Given the description of an element on the screen output the (x, y) to click on. 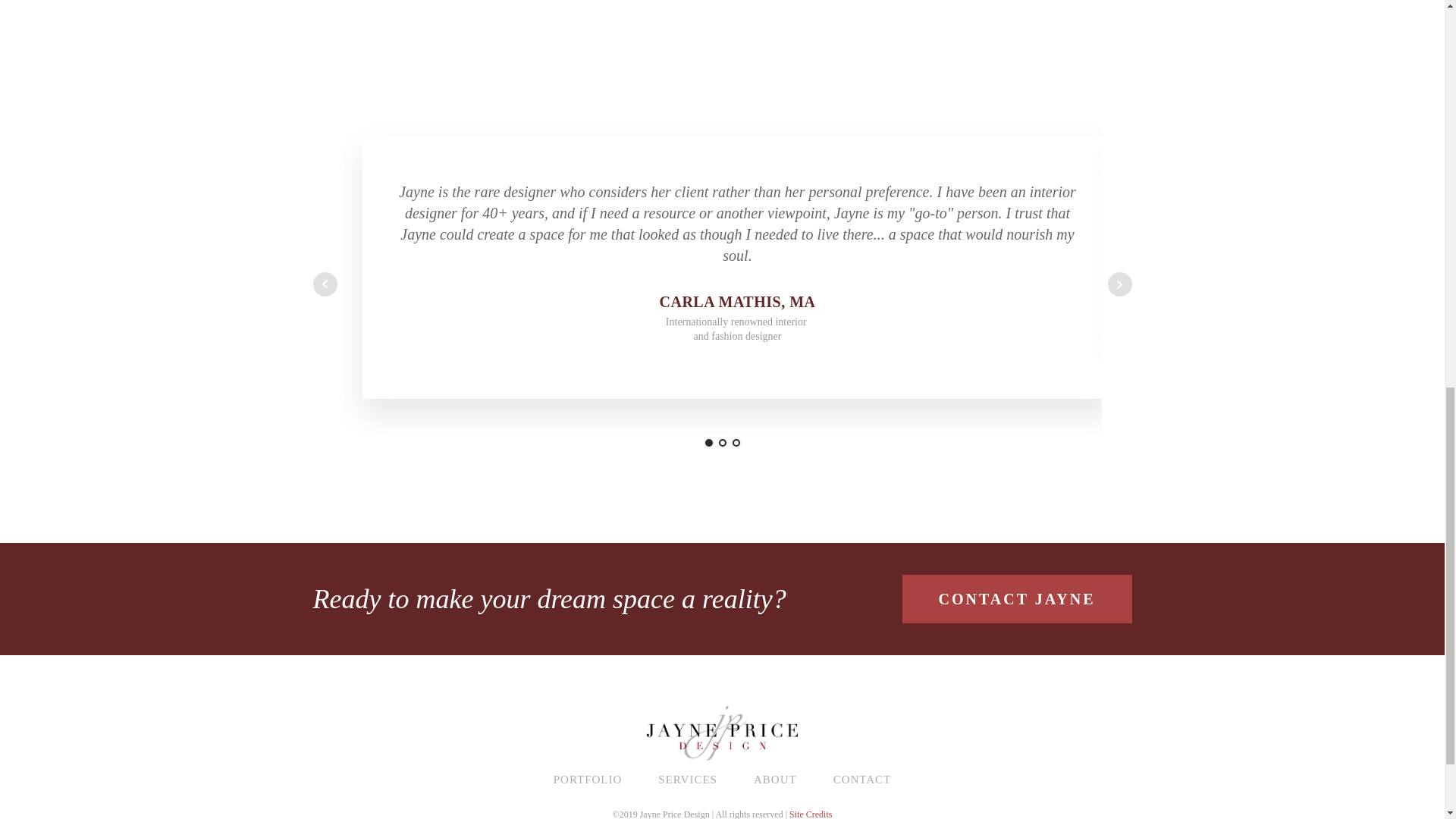
CONTACT JAYNE (1017, 598)
SERVICES (687, 779)
CONTACT (862, 779)
Site Credits (810, 814)
Next (1118, 283)
ABOUT (775, 779)
Prev (324, 283)
PORTFOLIO (587, 779)
